Given the description of an element on the screen output the (x, y) to click on. 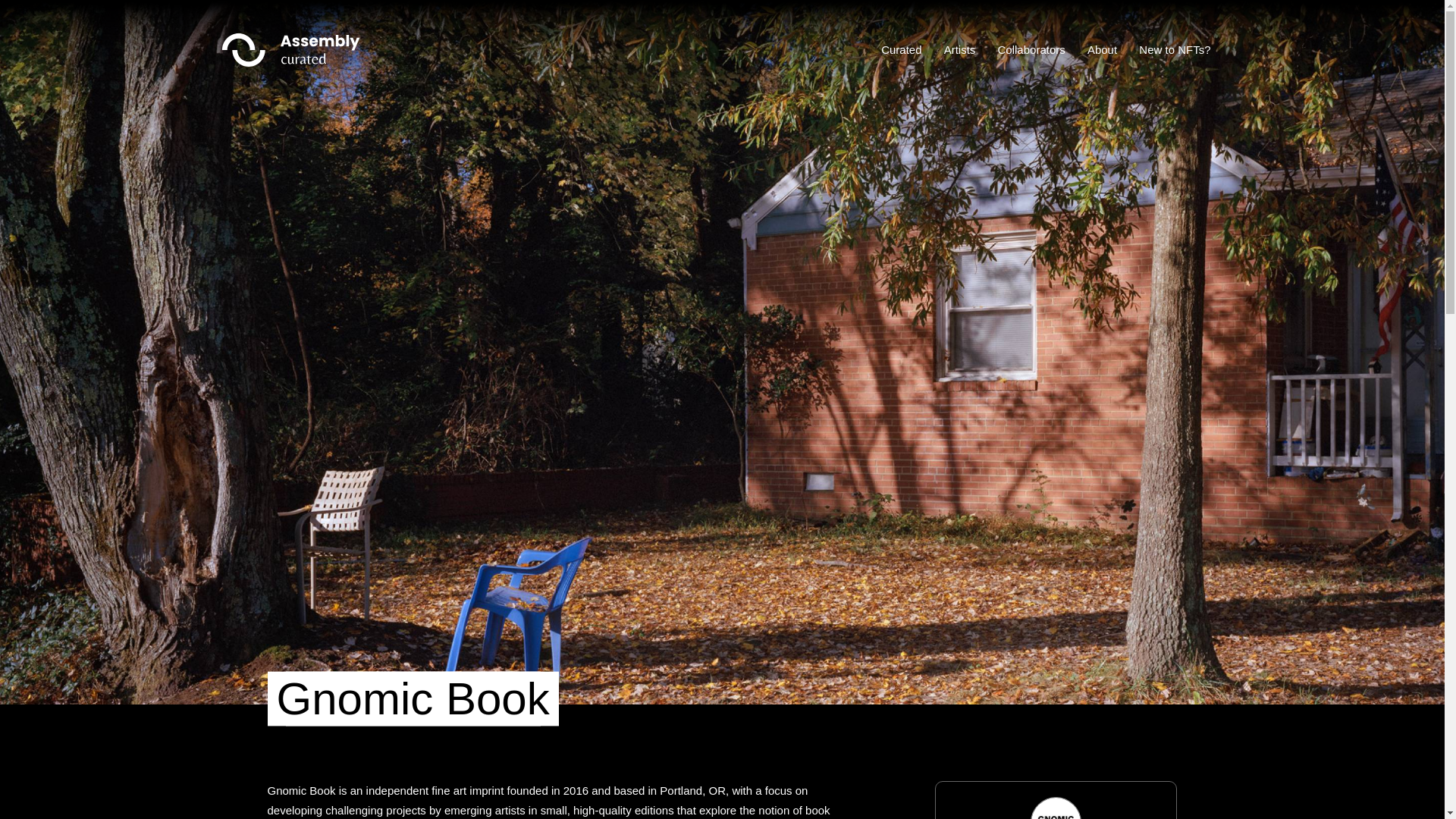
New to NFTs? (1173, 49)
Curated (900, 49)
Collaborators (1031, 49)
Artists (959, 49)
About (1101, 49)
